Given the description of an element on the screen output the (x, y) to click on. 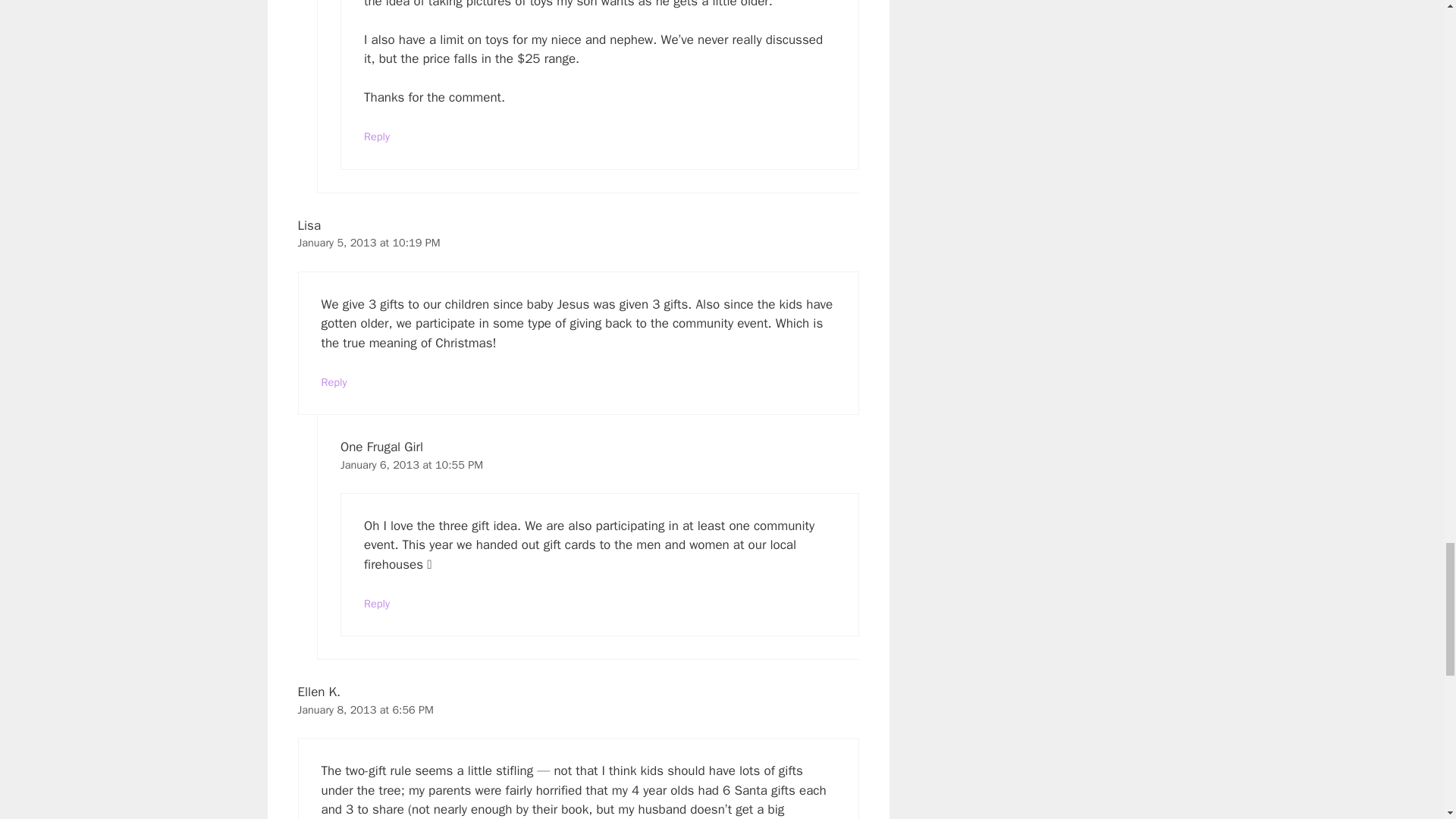
January 6, 2013 at 10:55 PM (411, 464)
Reply (377, 136)
Reply (377, 603)
Reply (334, 382)
January 5, 2013 at 10:19 PM (368, 242)
January 8, 2013 at 6:56 PM (364, 709)
